Given the description of an element on the screen output the (x, y) to click on. 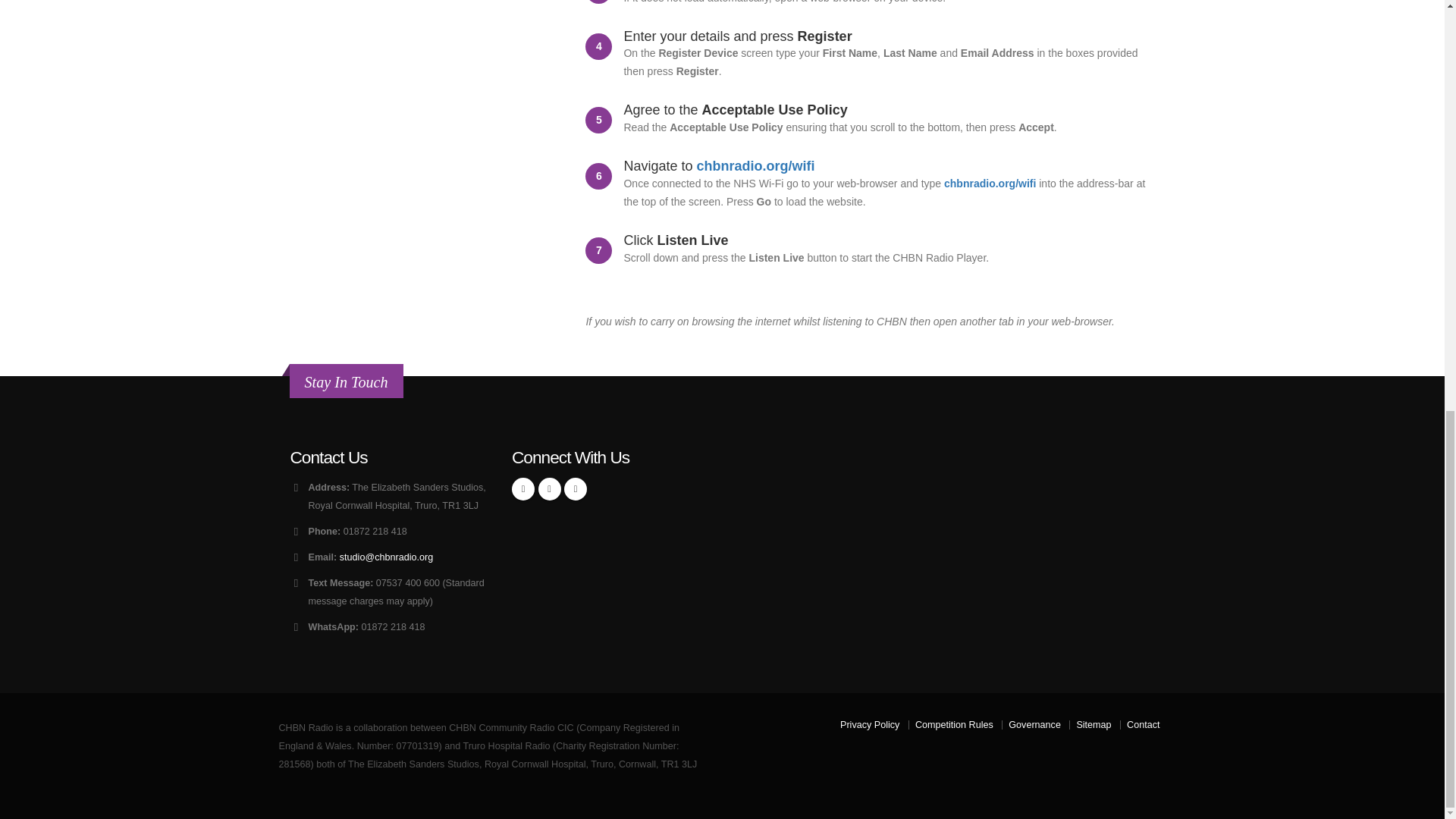
Twitter (549, 488)
Facebook (523, 488)
Youtube (575, 488)
